Given the description of an element on the screen output the (x, y) to click on. 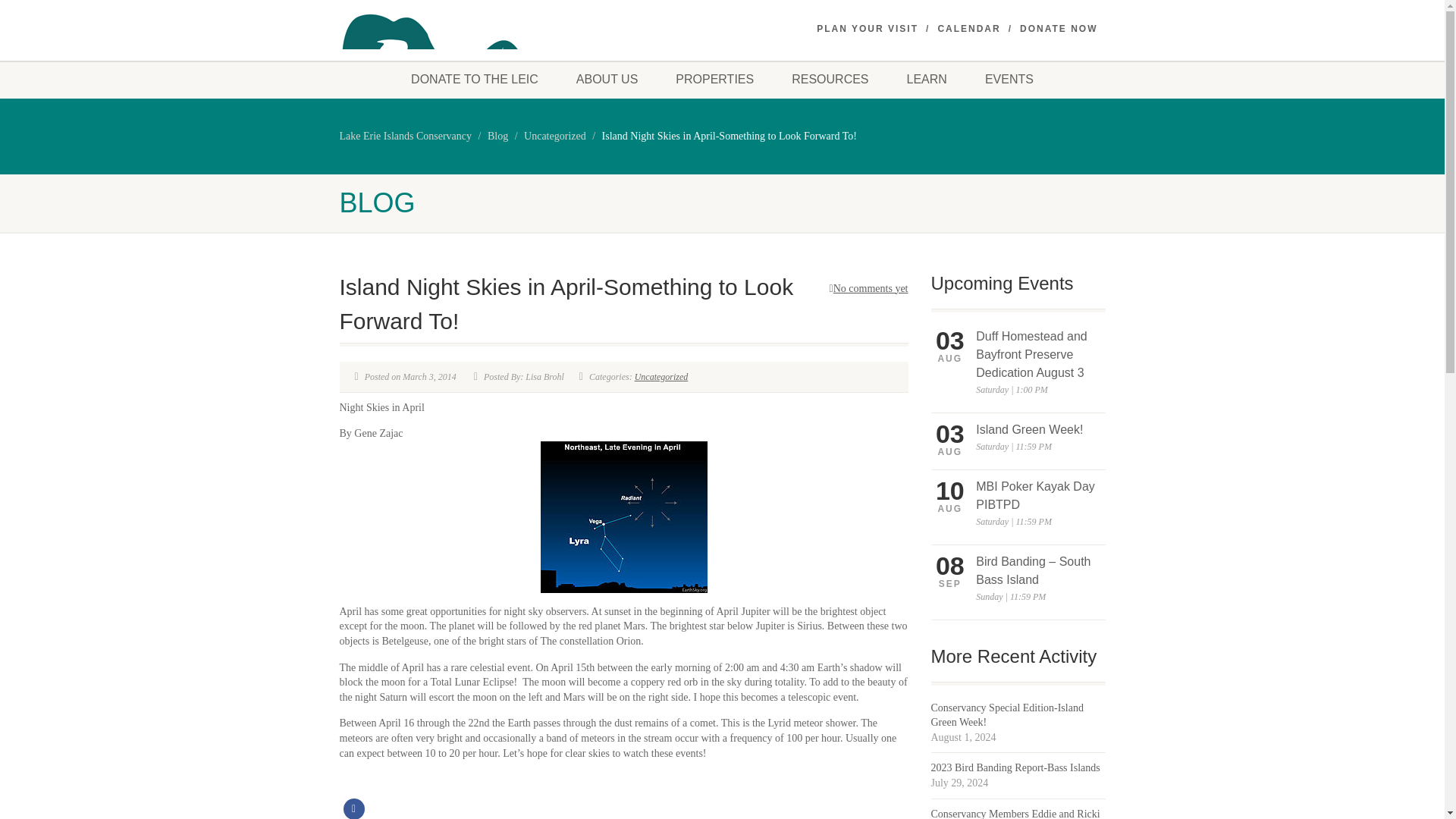
Share on Facebook (353, 808)
Go to Lake Erie Islands Conservancy. (405, 135)
Lake Erie Islands Conservancy (405, 135)
Go to Blog. (497, 135)
LEARN (927, 79)
PLAN YOUR VISIT (867, 29)
CALENDAR (968, 29)
ABOUT US (607, 79)
PROPERTIES (714, 79)
RESOURCES (829, 79)
